Given the description of an element on the screen output the (x, y) to click on. 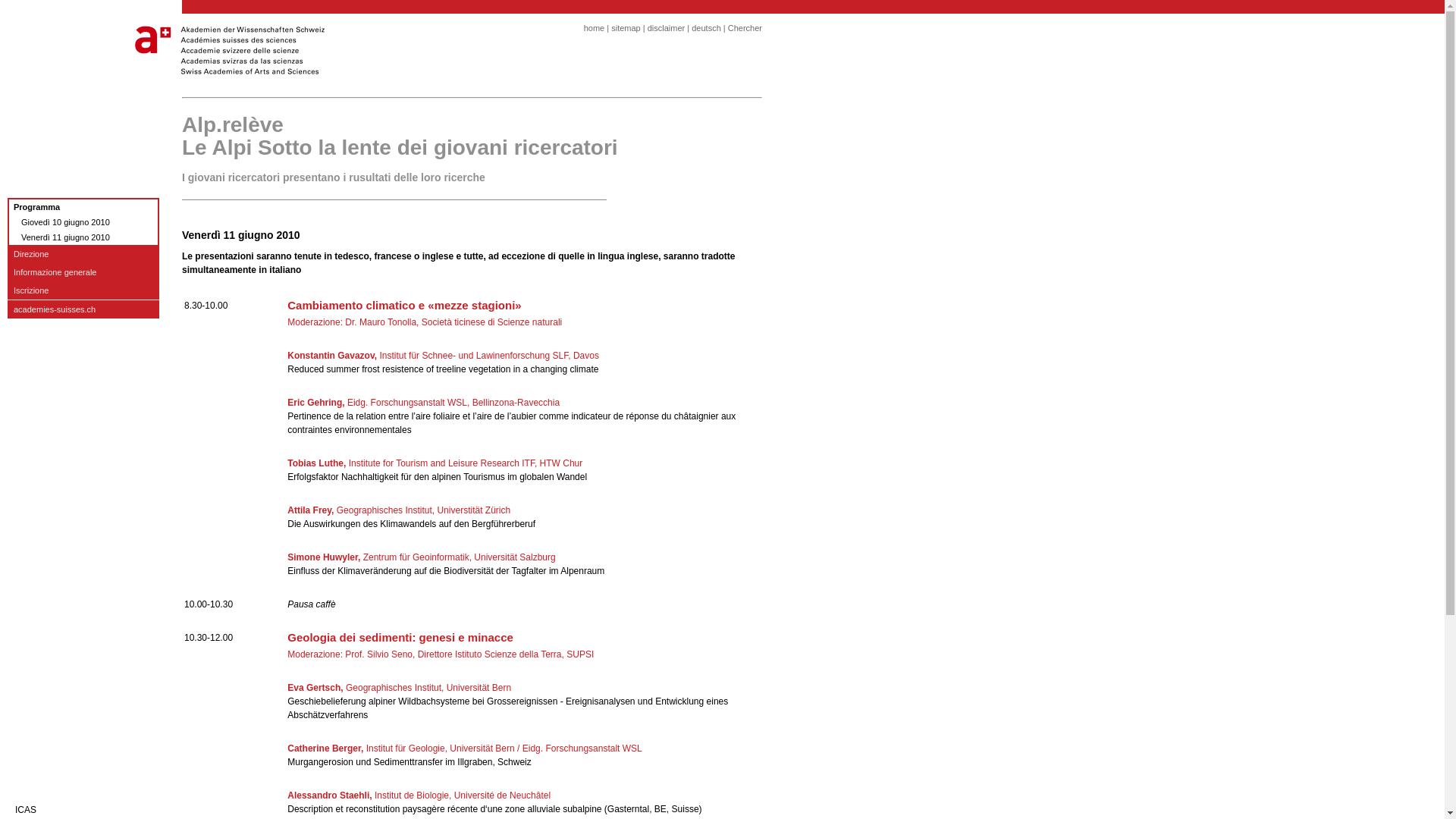
academies-suisses.ch Element type: text (83, 309)
deutsch Element type: text (706, 27)
Informazione generale Element type: text (83, 272)
Chercher Element type: text (745, 27)
home Element type: text (594, 27)
Iscrizione Element type: text (83, 290)
sitemap Element type: text (625, 27)
disclaimer Element type: text (666, 27)
Direzione Element type: text (83, 253)
Programma Element type: text (83, 205)
